Given the description of an element on the screen output the (x, y) to click on. 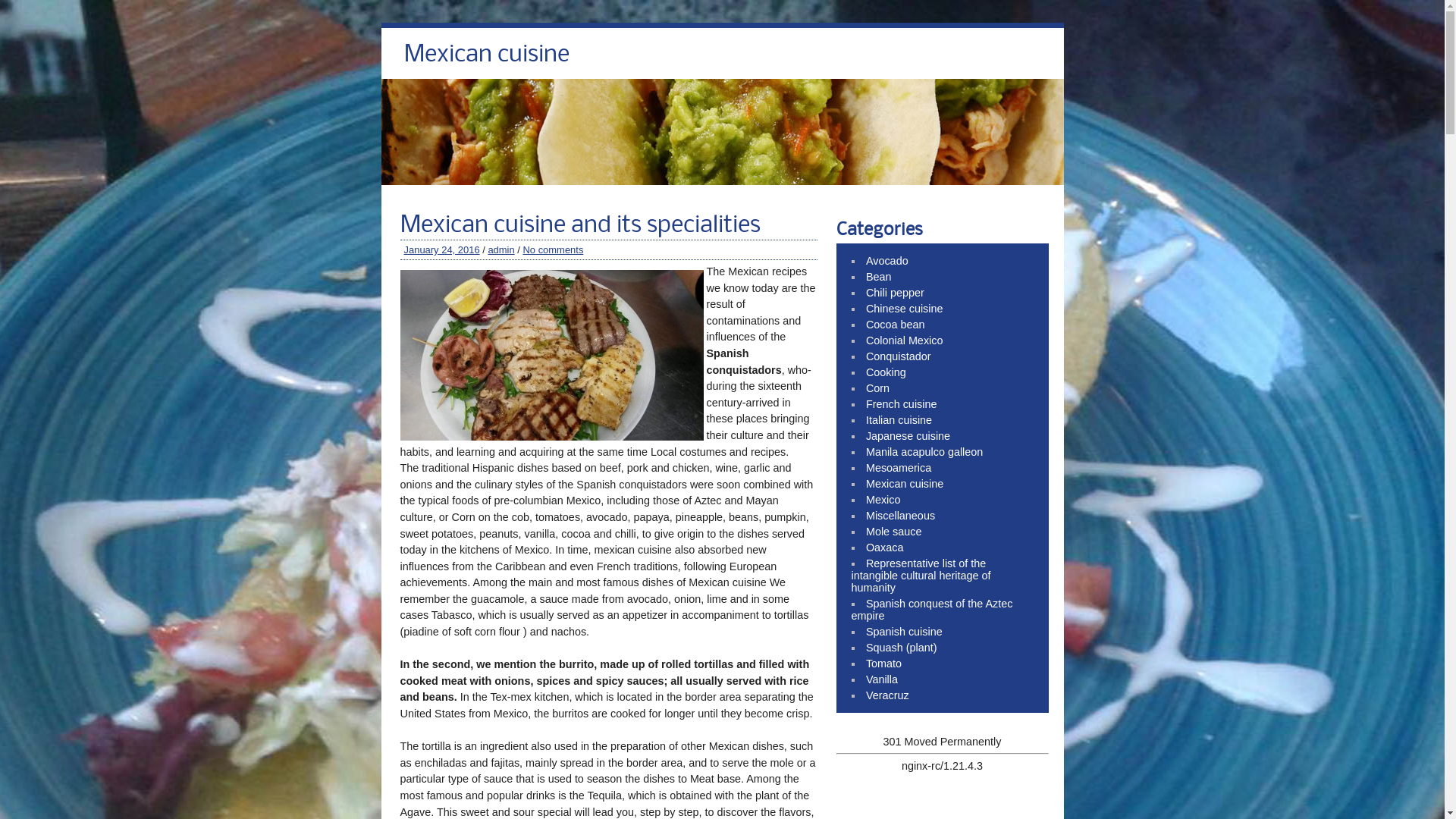
Chili pepper Element type: text (895, 292)
Mole sauce Element type: text (894, 531)
Japanese cuisine Element type: text (908, 435)
Cooking Element type: text (886, 372)
French cuisine Element type: text (901, 404)
admin Element type: text (500, 249)
Vanilla Element type: text (881, 679)
Mesoamerica Element type: text (898, 467)
Tomato Element type: text (883, 663)
Avocado Element type: text (887, 260)
Mexican cuisine Element type: text (485, 59)
Bean Element type: text (878, 276)
Spanish cuisine Element type: text (904, 631)
Cocoa bean Element type: text (895, 324)
Mexico Element type: text (883, 499)
Manila acapulco galleon Element type: text (924, 451)
Conquistador Element type: text (898, 356)
Miscellaneous Element type: text (900, 515)
Chinese cuisine Element type: text (904, 308)
Mexican cuisine and its specialities Element type: text (580, 225)
No comments Element type: text (552, 249)
Mexican cuisine Element type: text (904, 483)
Squash (plant) Element type: text (901, 647)
Spanish conquest of the Aztec empire Element type: text (931, 609)
Oaxaca Element type: text (884, 547)
Veracruz Element type: text (887, 695)
Italian cuisine Element type: text (898, 420)
January 24, 2016 Element type: text (441, 249)
Colonial Mexico Element type: text (904, 340)
Corn Element type: text (877, 388)
